Given the description of an element on the screen output the (x, y) to click on. 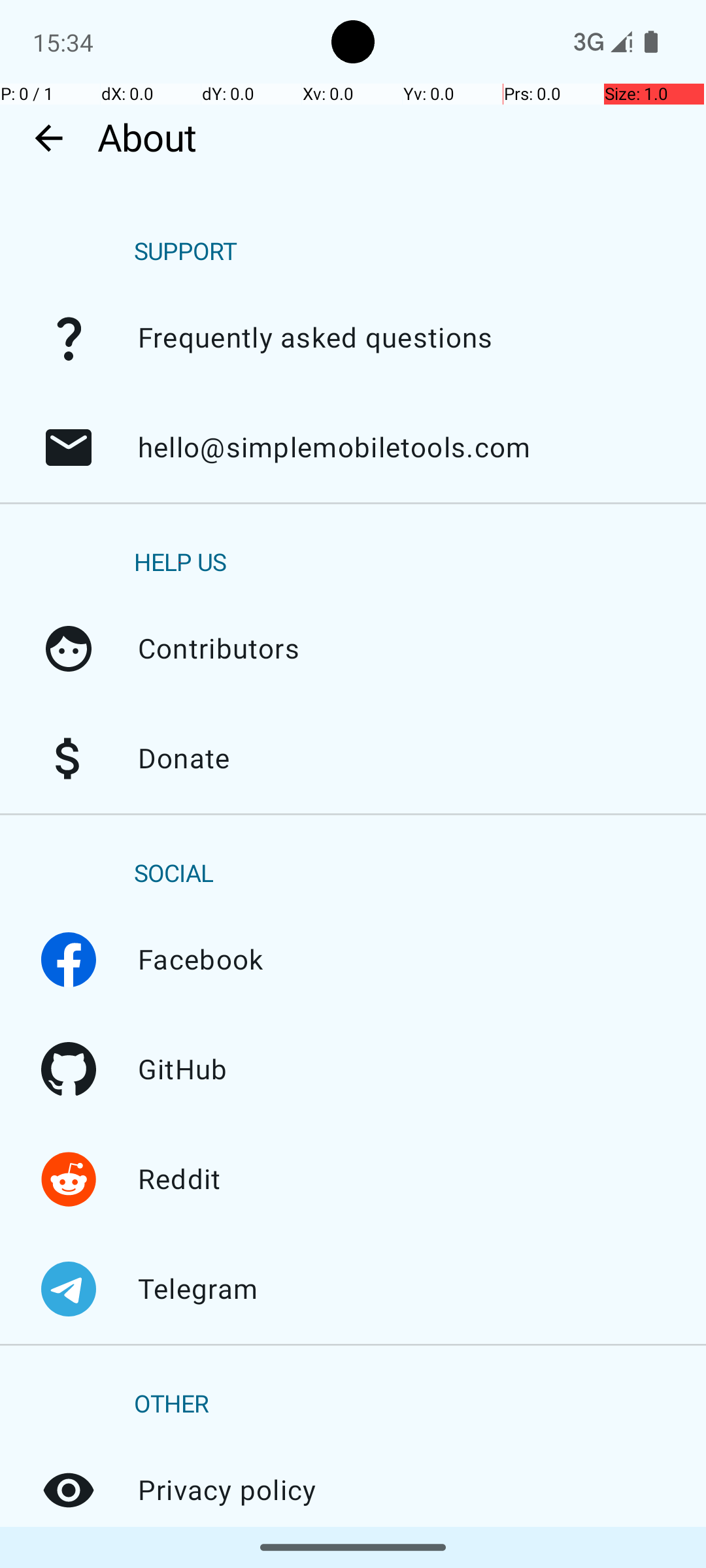
SUPPORT Element type: android.widget.TextView (185, 251)
HELP US Element type: android.widget.TextView (180, 562)
SOCIAL Element type: android.widget.TextView (173, 873)
OTHER Element type: android.widget.TextView (171, 1404)
Frequently asked questions Element type: android.view.View (68, 337)
hello@simplemobiletools.com Element type: android.view.View (68, 447)
Donate Element type: android.view.View (68, 758)
GitHub Element type: android.view.View (68, 1069)
Reddit Element type: android.view.View (68, 1178)
Telegram Element type: android.view.View (68, 1288)
Privacy policy Element type: android.view.View (68, 1489)
